Given the description of an element on the screen output the (x, y) to click on. 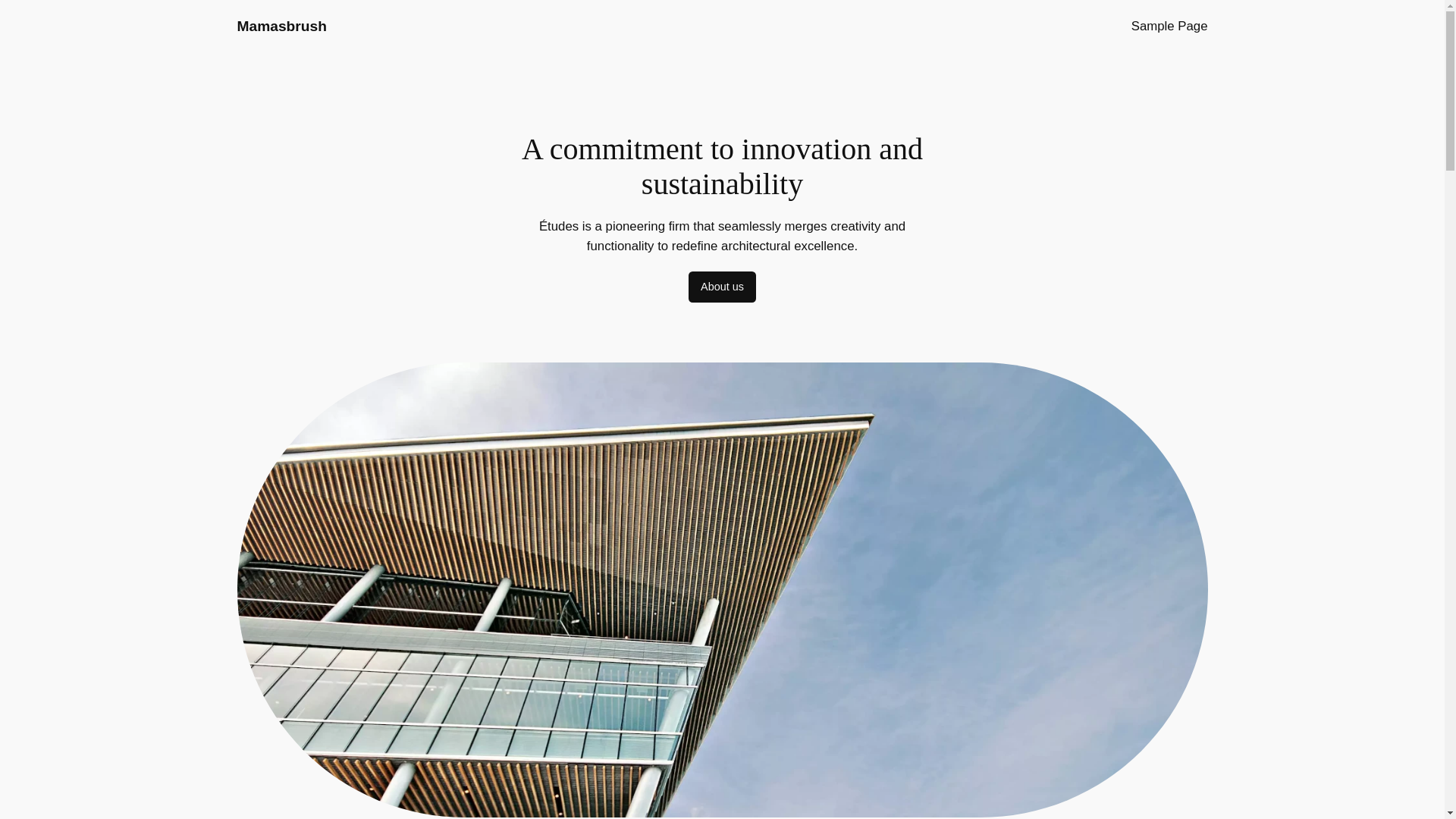
About us (721, 287)
Mamasbrush (280, 26)
Sample Page (1169, 26)
